Given the description of an element on the screen output the (x, y) to click on. 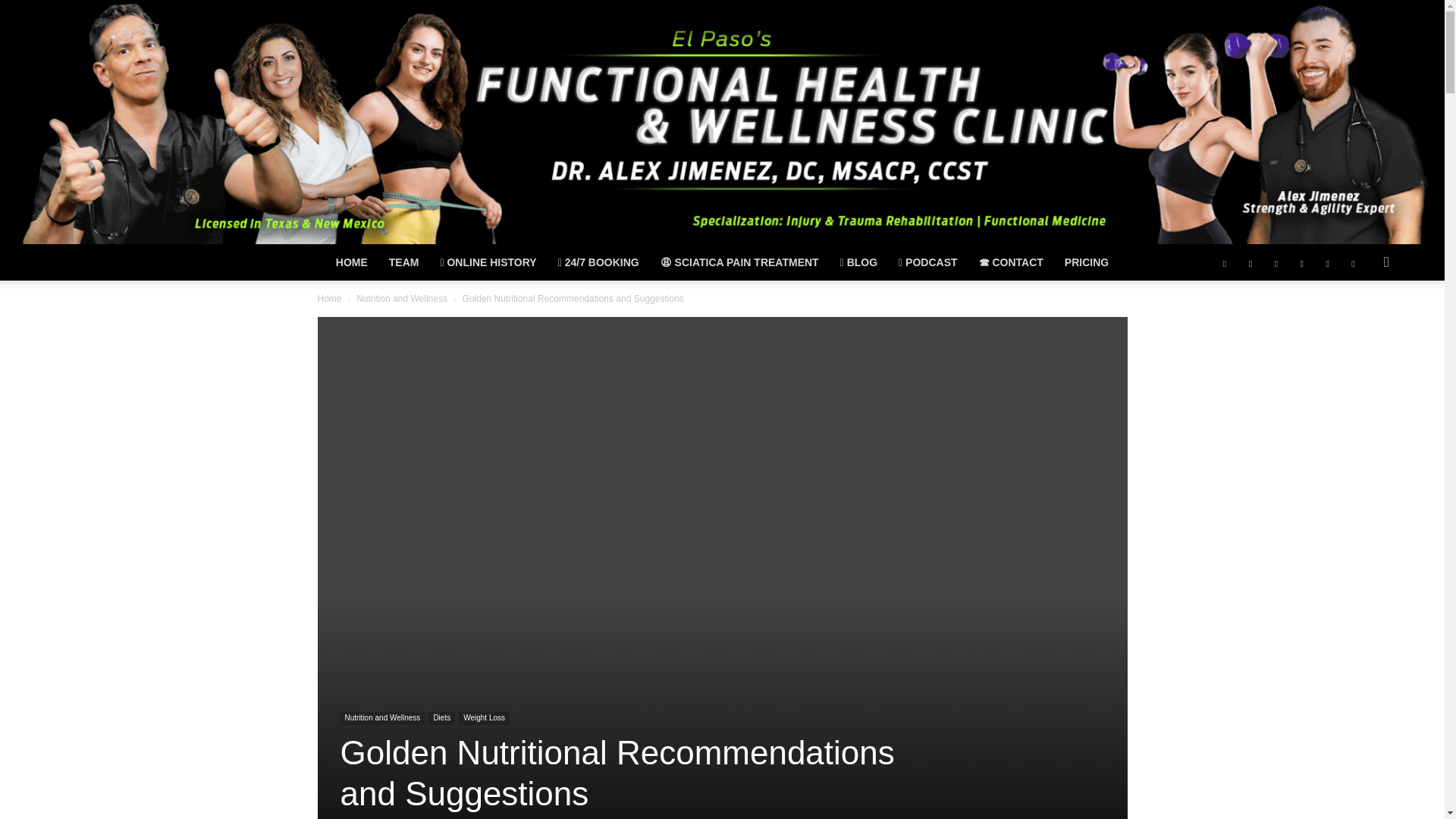
HOME (351, 262)
View all posts in Nutrition and Wellness (401, 298)
TEAM (403, 262)
